Given the description of an element on the screen output the (x, y) to click on. 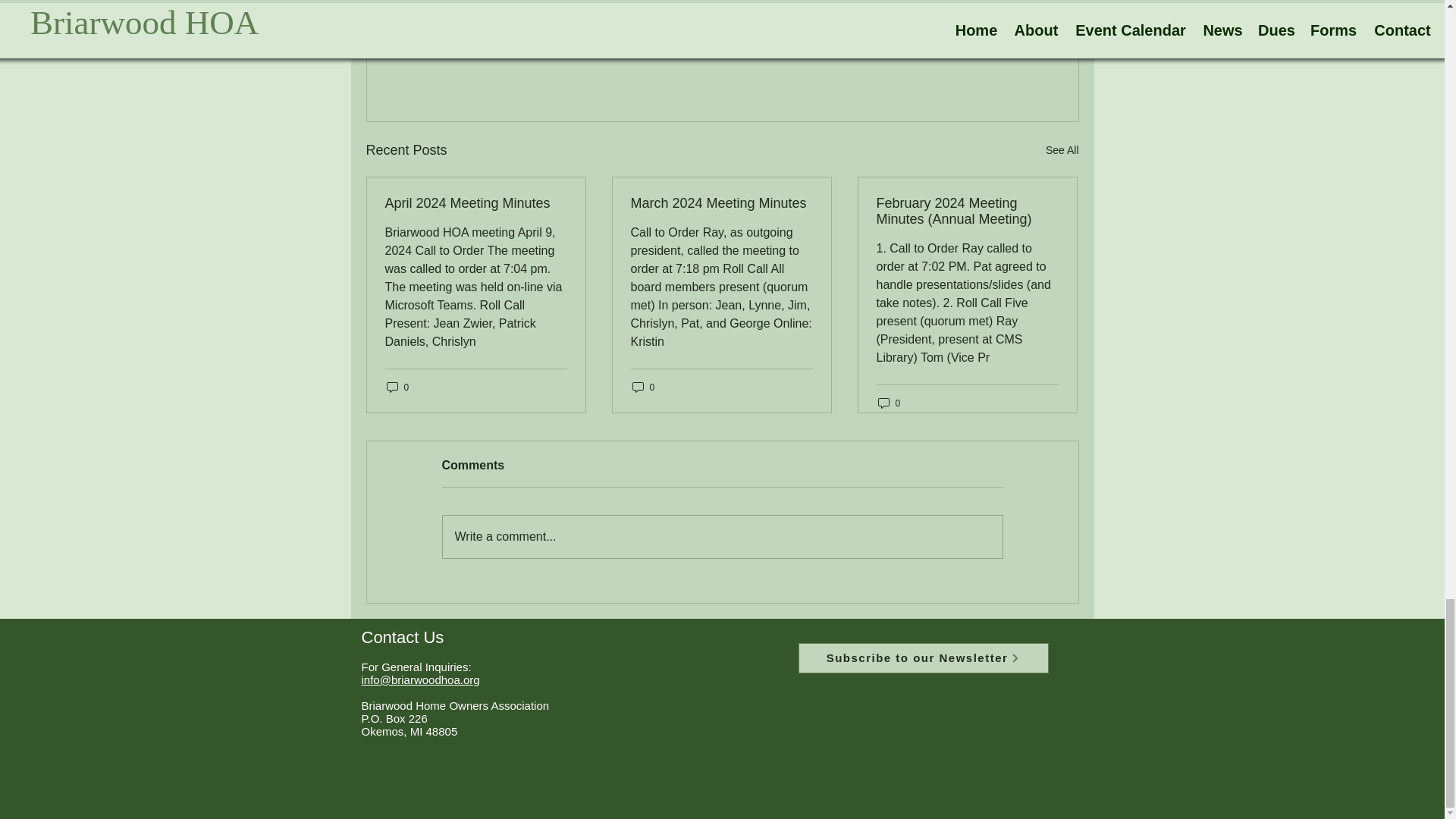
Subscribe to our Newsletter (922, 657)
0 (397, 386)
March 2024 Meeting Minutes (721, 203)
April 2024 Meeting Minutes (476, 203)
See All (1061, 150)
0 (643, 386)
0 (889, 402)
Write a comment... (722, 536)
Meeting Minutes (963, 51)
